Given the description of an element on the screen output the (x, y) to click on. 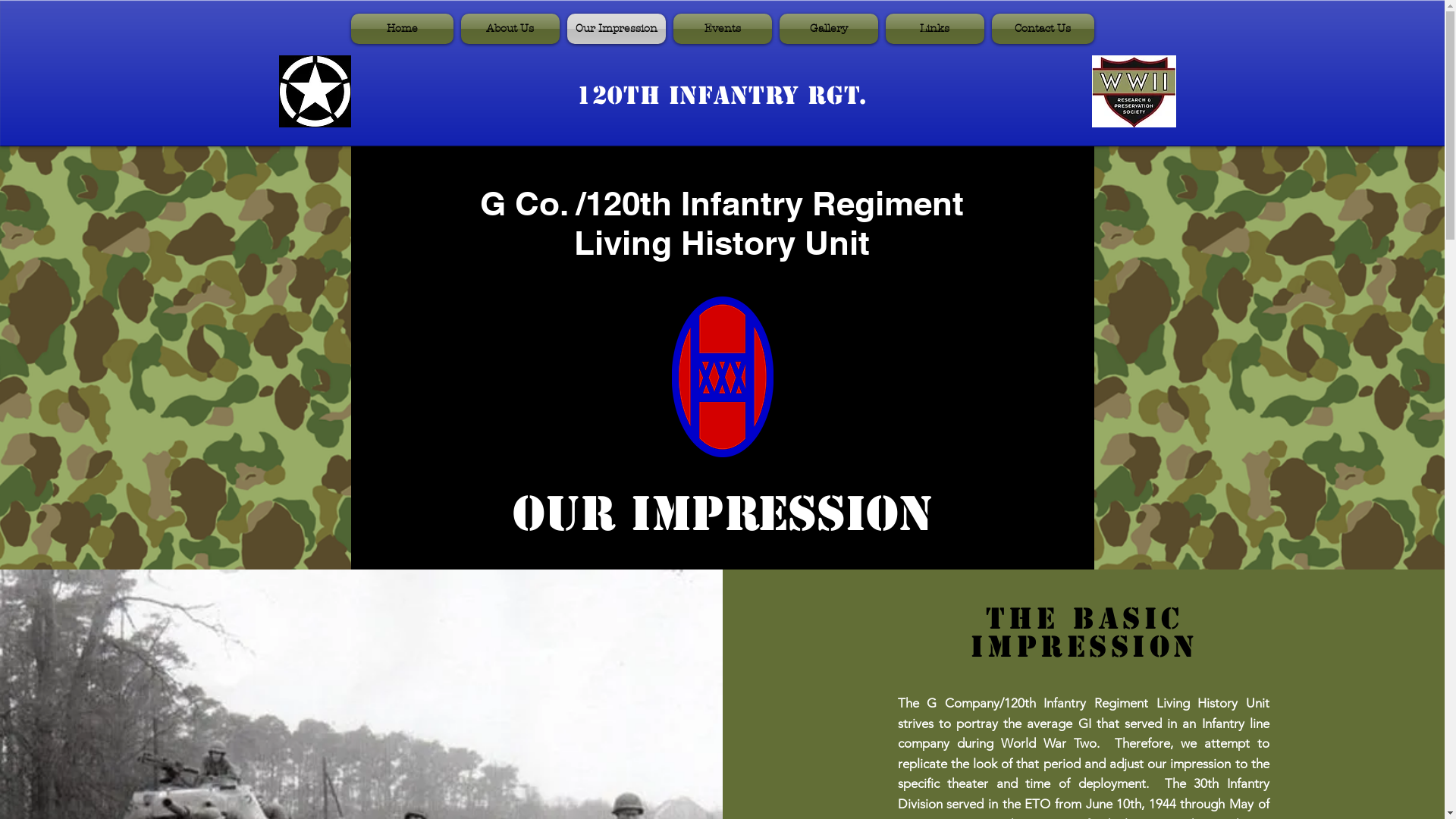
Links Element type: text (934, 28)
About Us Element type: text (509, 28)
Home Element type: text (403, 28)
Contact Us Element type: text (1040, 28)
Gallery Element type: text (828, 28)
Our Impression Element type: text (615, 28)
Events Element type: text (721, 28)
120th Infantry Rgt. Element type: text (721, 94)
